Given the description of an element on the screen output the (x, y) to click on. 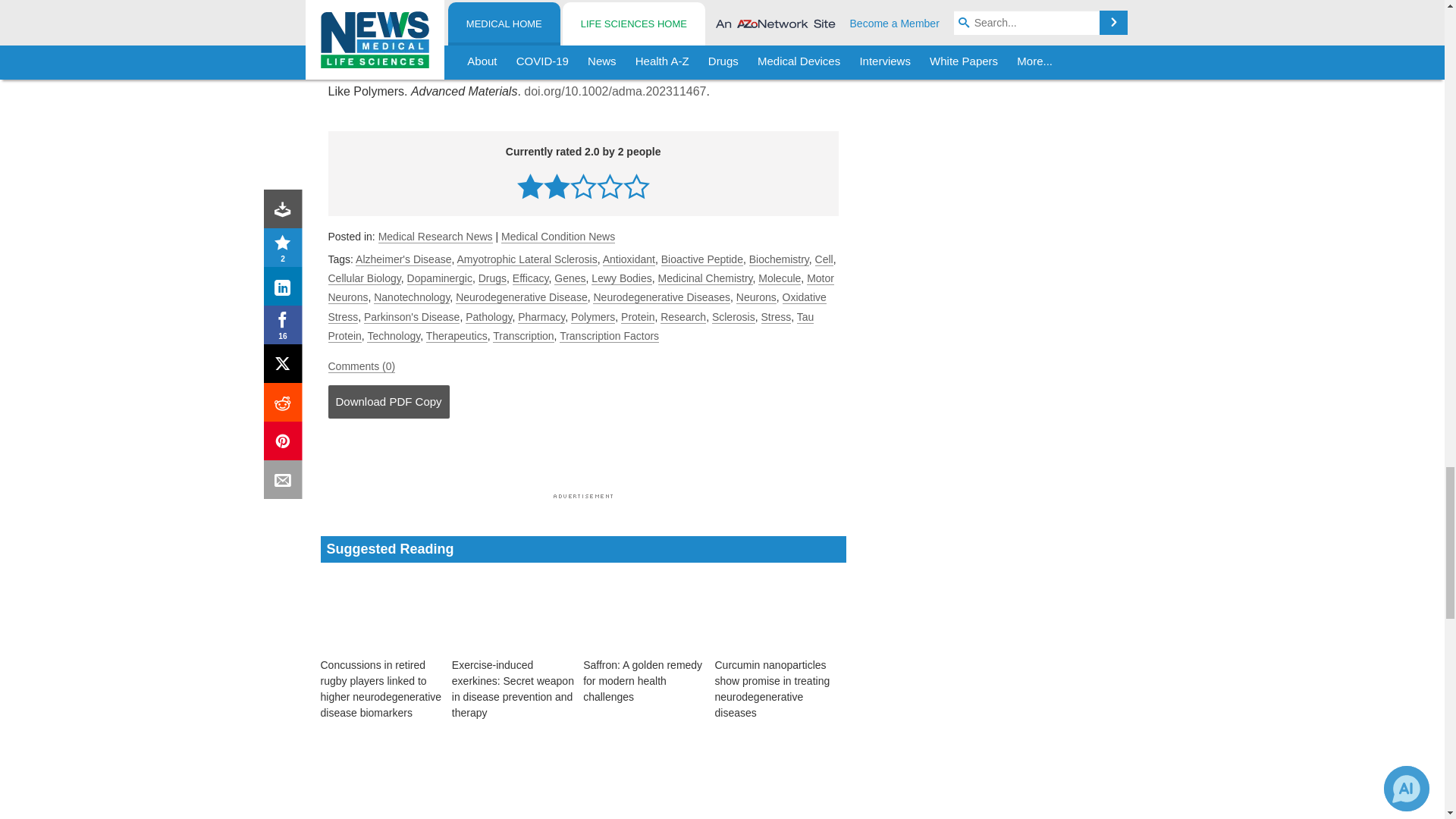
Rate this 4 stars out of 5 (609, 185)
Rate this 5 stars out of 5 (636, 185)
